Given the description of an element on the screen output the (x, y) to click on. 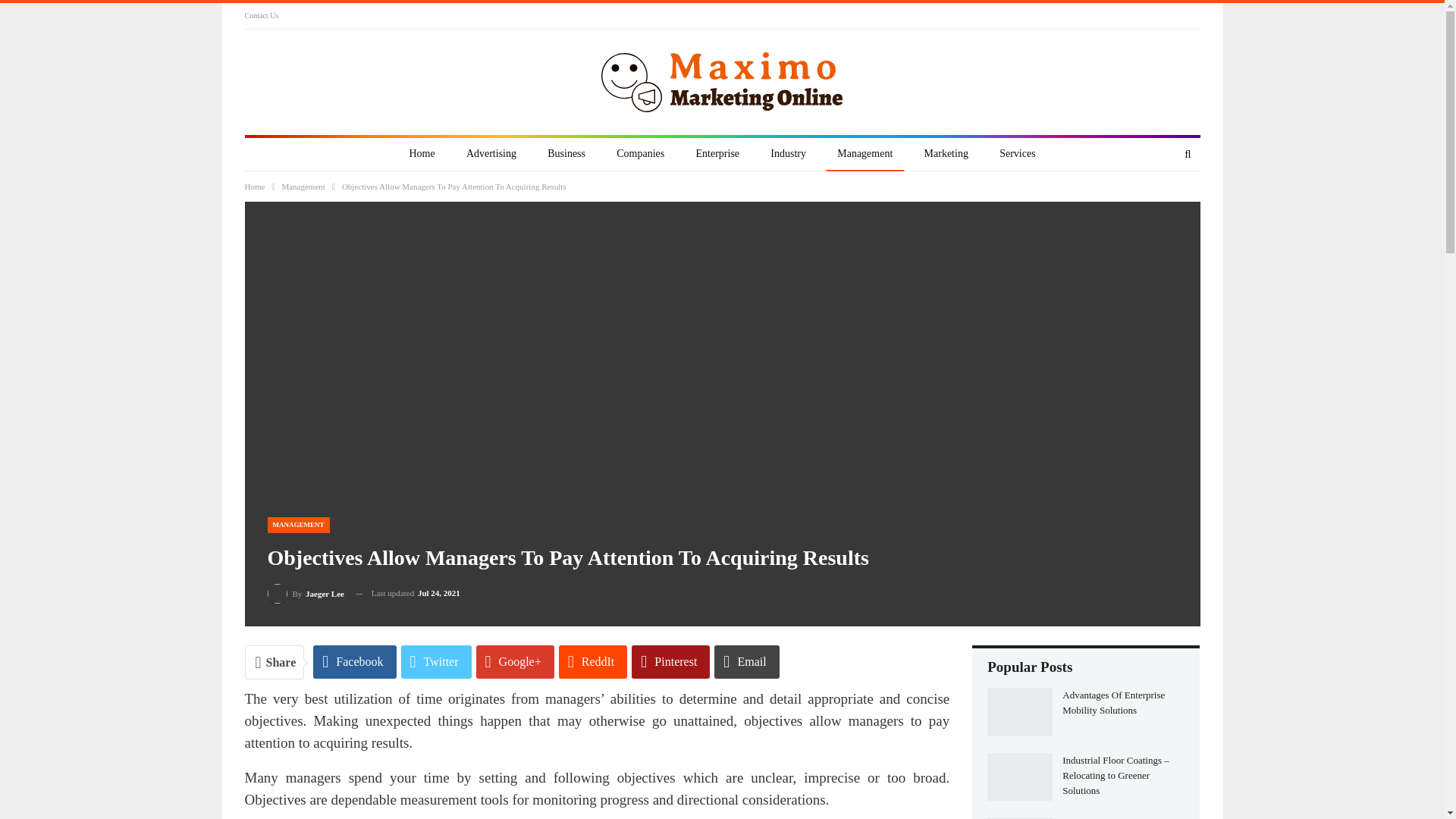
Business (565, 153)
Browse Author Articles (304, 593)
Enterprise (717, 153)
Home (254, 186)
Advantages Of Enterprise Mobility Solutions (1019, 711)
Management (864, 153)
ReddIt (593, 661)
MANAGEMENT (297, 524)
By Jaeger Lee (304, 593)
Industry (787, 153)
